Given the description of an element on the screen output the (x, y) to click on. 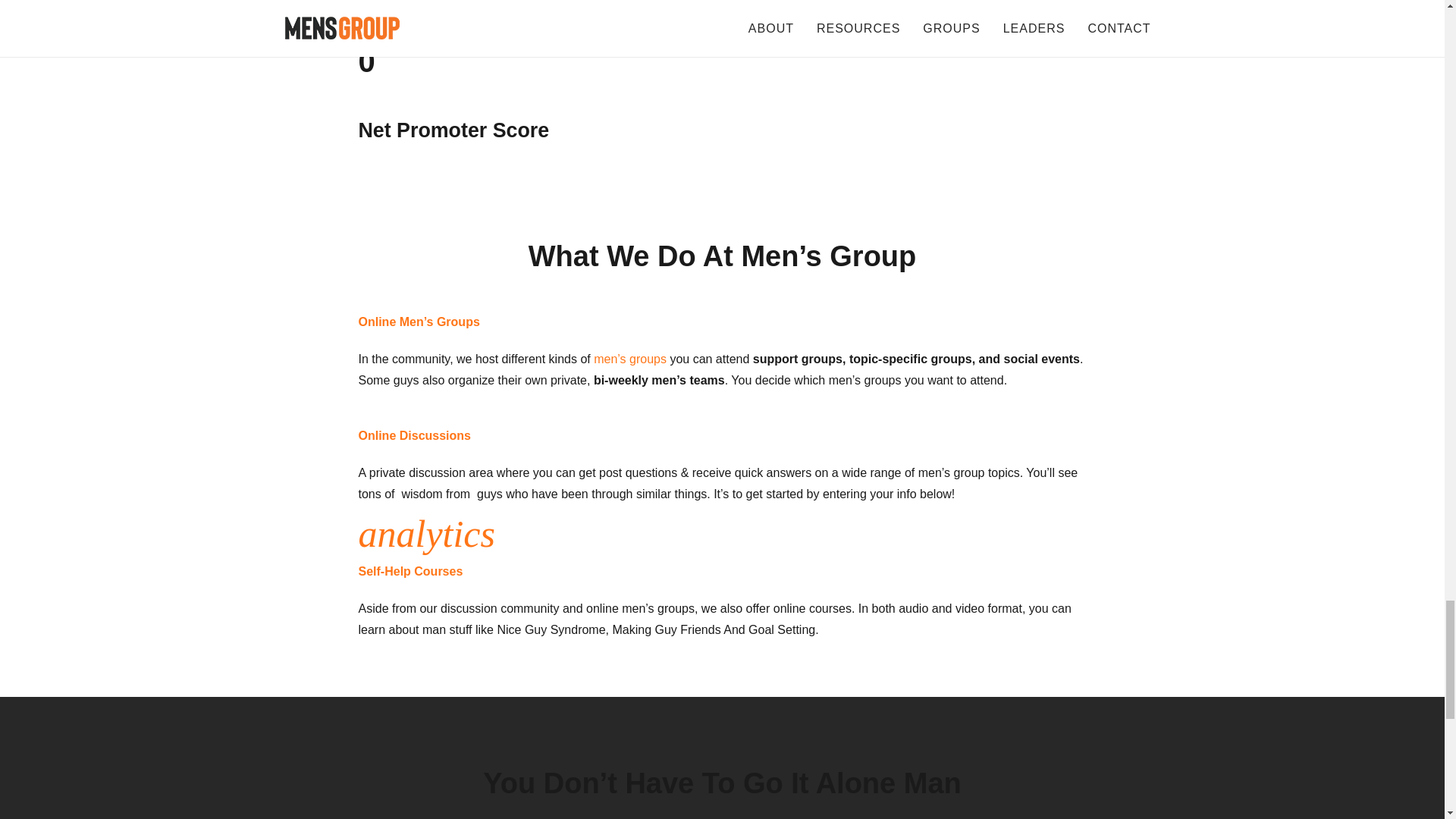
Self-Help Courses (722, 571)
Online Discussions (722, 435)
analytics (722, 533)
